Given the description of an element on the screen output the (x, y) to click on. 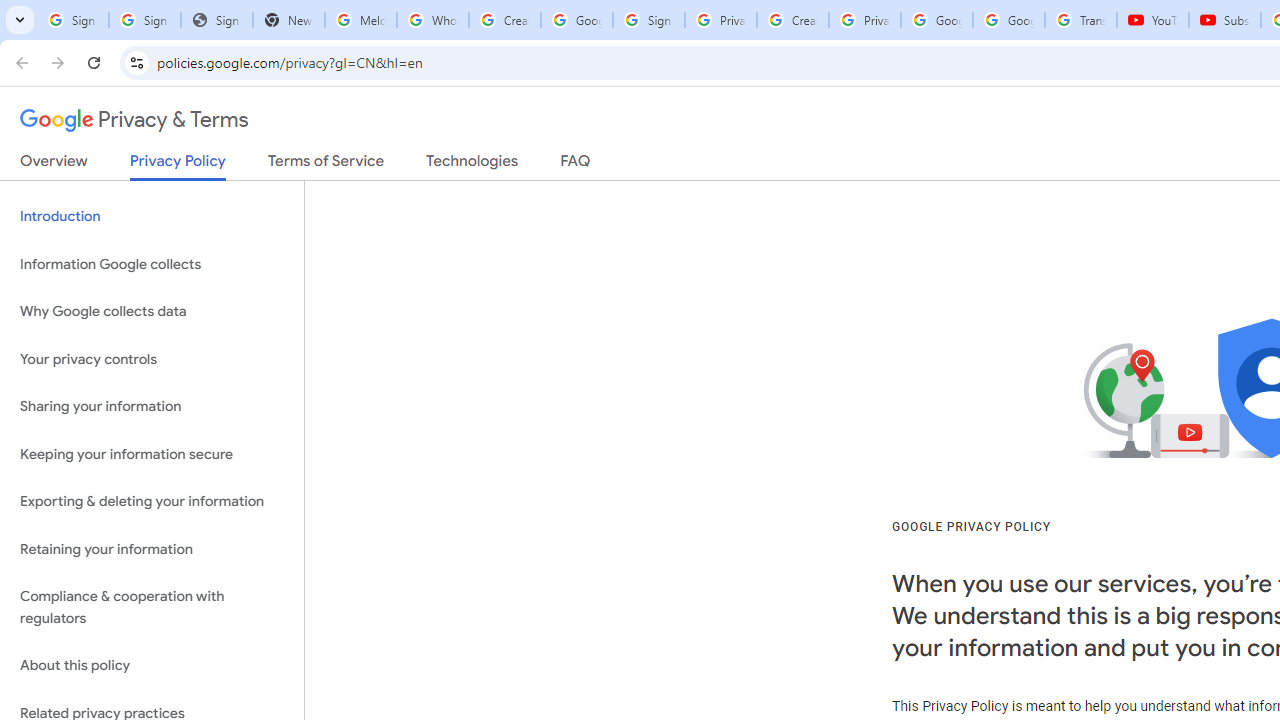
Who is my administrator? - Google Account Help (432, 20)
Subscriptions - YouTube (1224, 20)
Create your Google Account (792, 20)
Sign in - Google Accounts (144, 20)
Create your Google Account (504, 20)
